Given the description of an element on the screen output the (x, y) to click on. 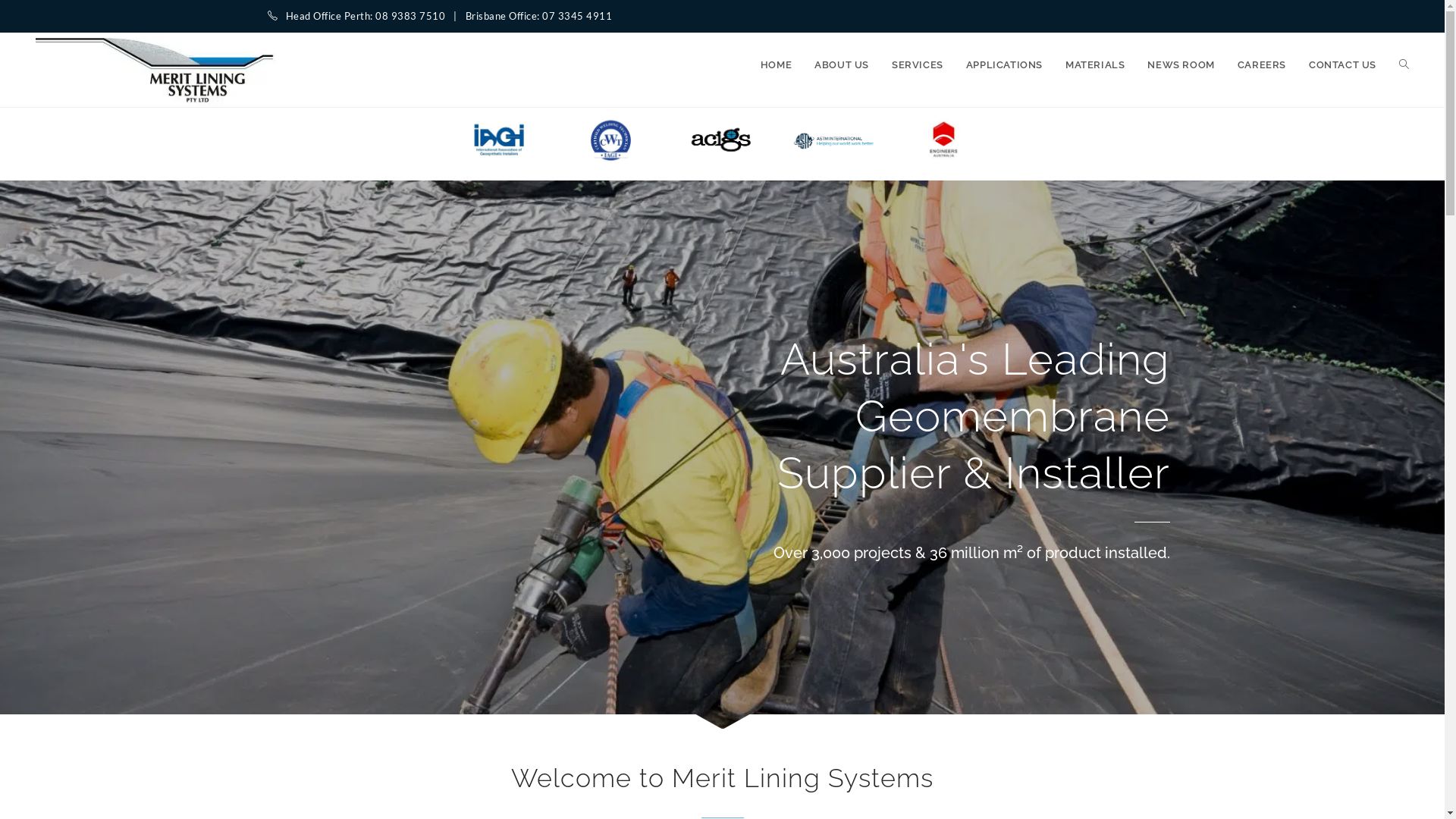
Home 3 Element type: hover (722, 139)
ABOUT US Element type: text (841, 64)
Home 1 Element type: hover (498, 139)
NEWS ROOM Element type: text (1180, 64)
Home 5 Element type: hover (945, 139)
Home 4 Element type: hover (833, 139)
HOME Element type: text (776, 64)
SERVICES Element type: text (917, 64)
MATERIALS Element type: text (1094, 64)
APPLICATIONS Element type: text (1004, 64)
Home 2 Element type: hover (610, 139)
CONTACT US Element type: text (1342, 64)
CAREERS Element type: text (1261, 64)
